Given the description of an element on the screen output the (x, y) to click on. 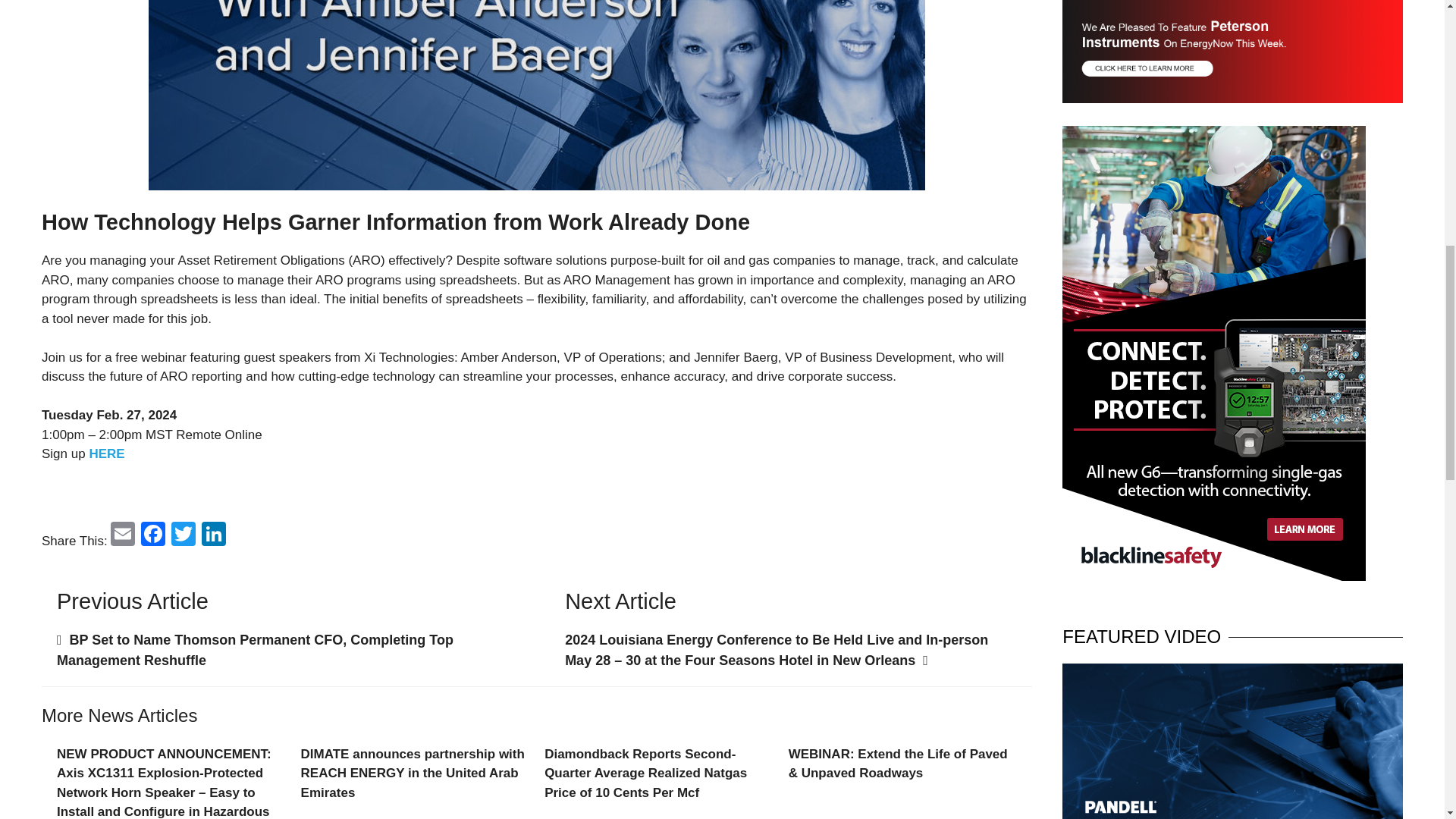
Scroll back to top (1406, 720)
Email (122, 535)
Facebook (153, 535)
Twitter (183, 535)
LinkedIn (213, 535)
